Given the description of an element on the screen output the (x, y) to click on. 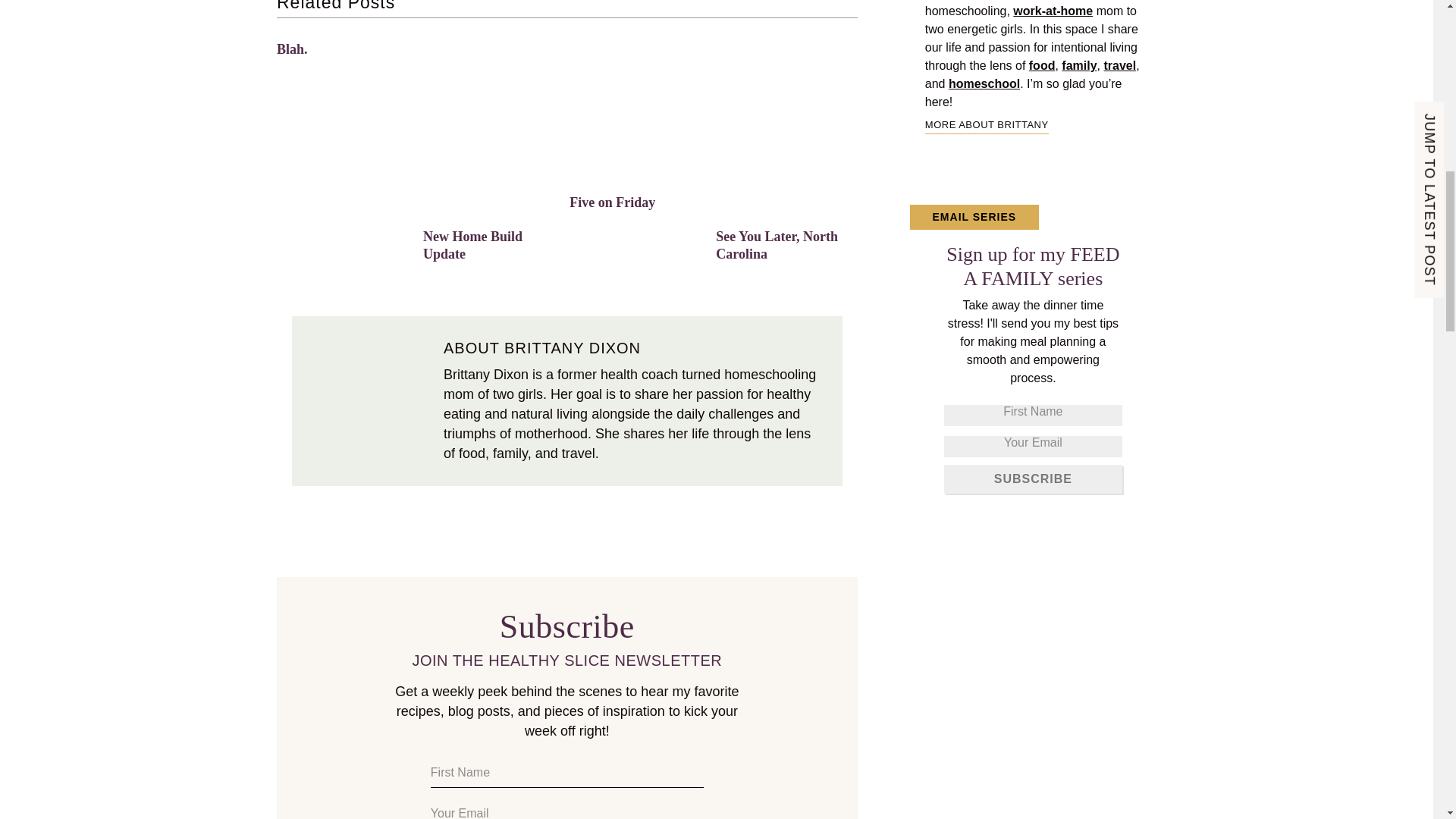
Permanent Link to Blah. (291, 48)
Permanent Link to See You Later, North Carolina (777, 245)
Permanent Link to New Home Build Update (493, 43)
Permanent Link to See You Later, North Carolina (786, 43)
Permanent Link to New Home Build Update (472, 245)
Subscribe (1032, 479)
Permanent Link to Five on Friday (639, 43)
Permanent Link to Five on Friday (612, 201)
